Given the description of an element on the screen output the (x, y) to click on. 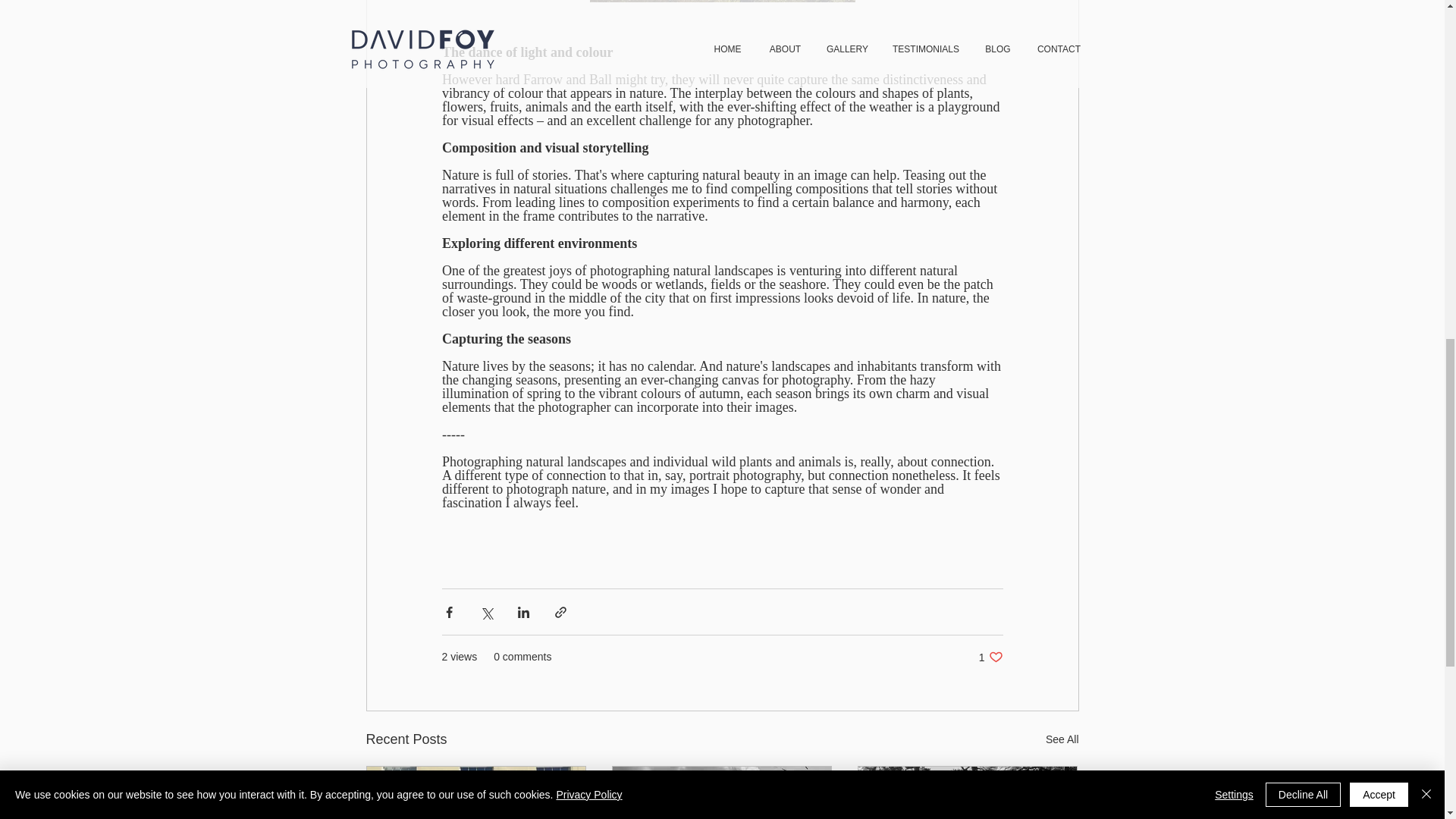
See All (990, 657)
